Given the description of an element on the screen output the (x, y) to click on. 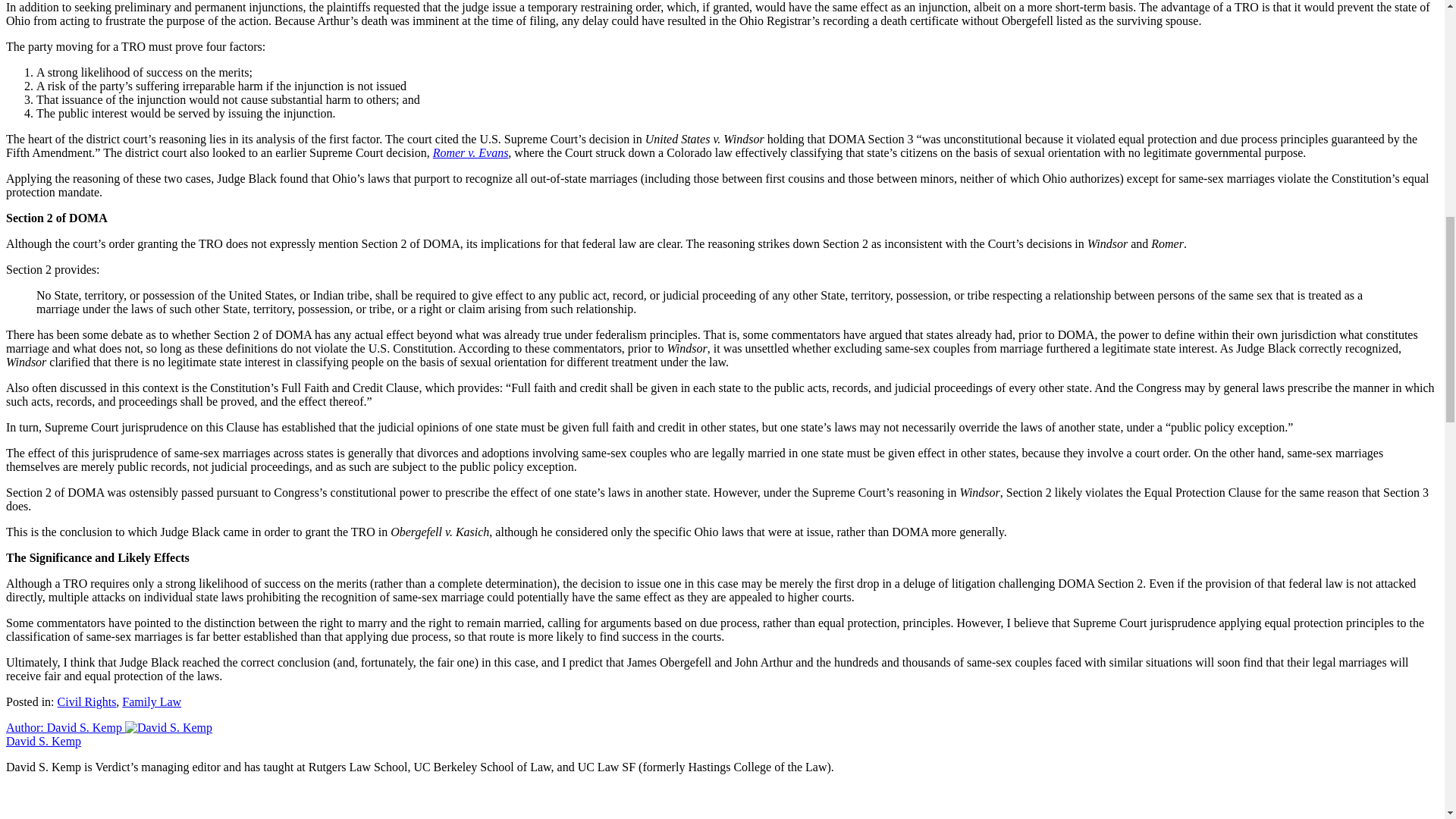
Civil Rights (87, 701)
David S. Kemp (108, 727)
Romer v. Evans (470, 152)
View all posts in Family Law (151, 701)
View all posts in Civil Rights (87, 701)
David S. Kemp (168, 727)
Family Law (151, 701)
David S. Kemp (43, 740)
Author: David S. Kemp (108, 727)
